Given the description of an element on the screen output the (x, y) to click on. 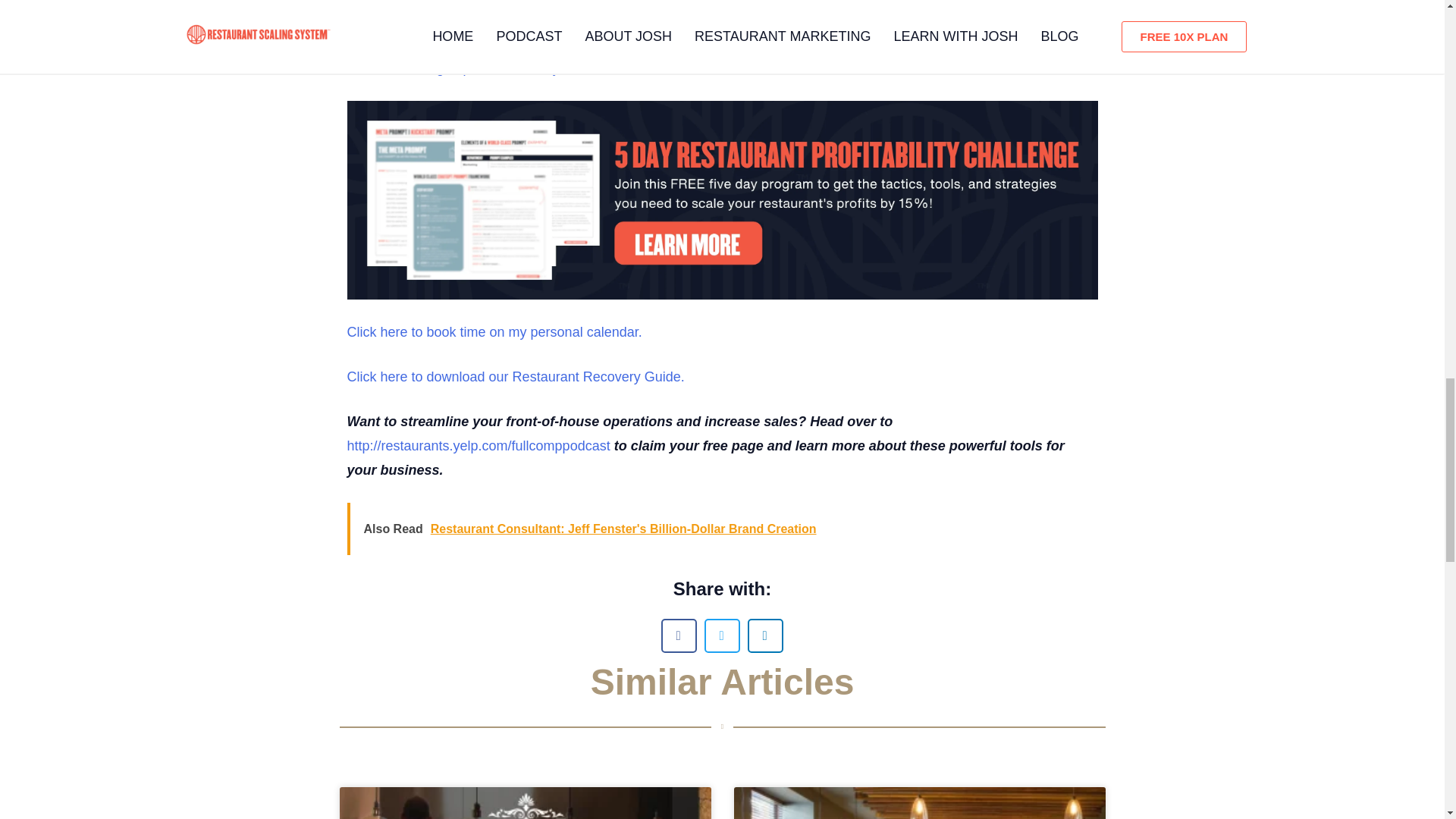
Click here to book time on my personal calendar. (494, 331)
Click here to download our Restaurant Recovery Guide. (515, 376)
here (619, 23)
Click here to sign up for our weekly newsletter. (487, 68)
